Given the description of an element on the screen output the (x, y) to click on. 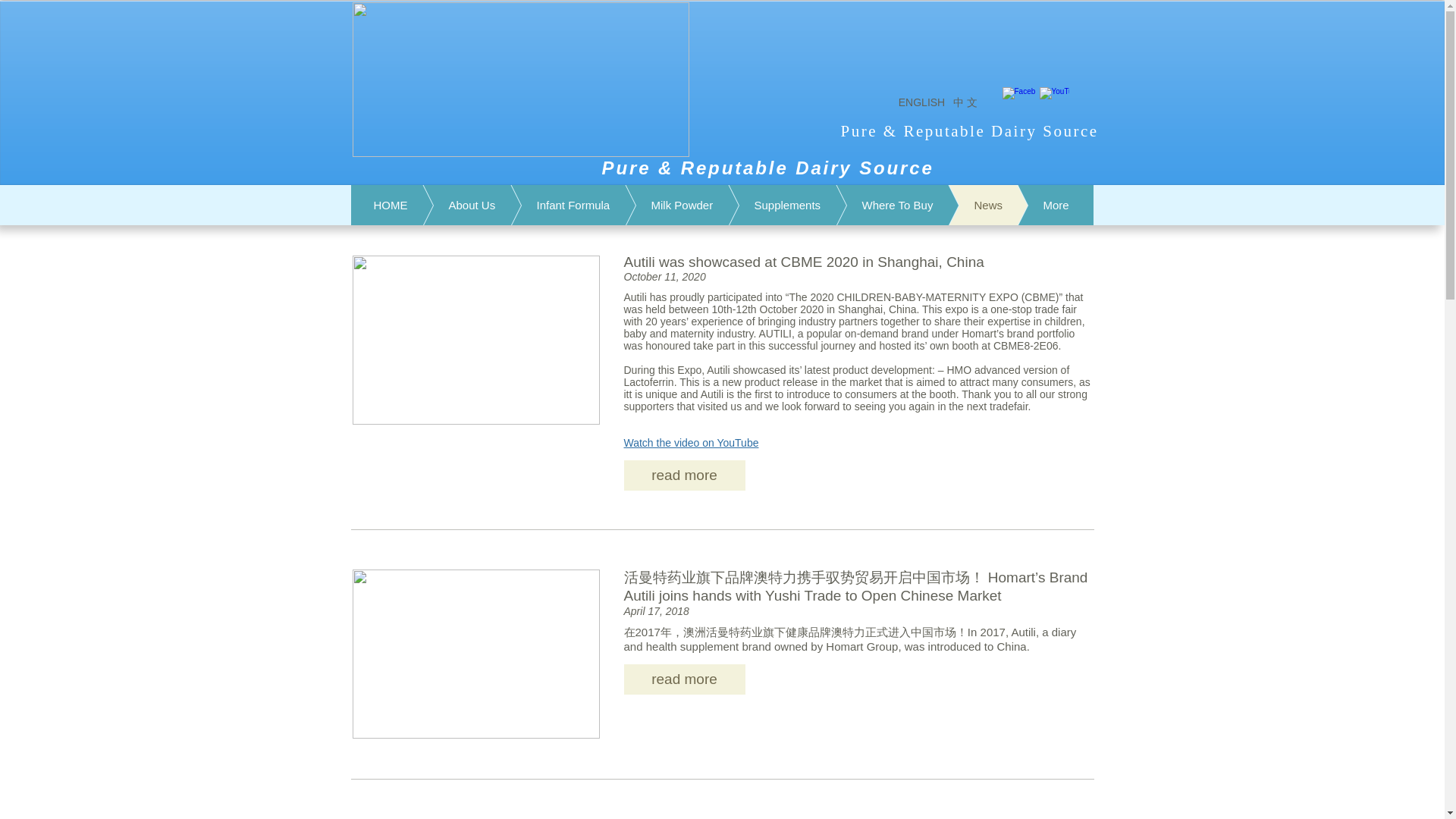
ENGLISH (920, 102)
Infant Formula (551, 205)
Autili logo-01-01.png (520, 79)
News (965, 205)
2-1P51F9400D05-e1571379223577.jpg (474, 654)
Milk Powder (660, 205)
Where To Buy (875, 205)
HOME (391, 205)
Supplements (765, 205)
